Given the description of an element on the screen output the (x, y) to click on. 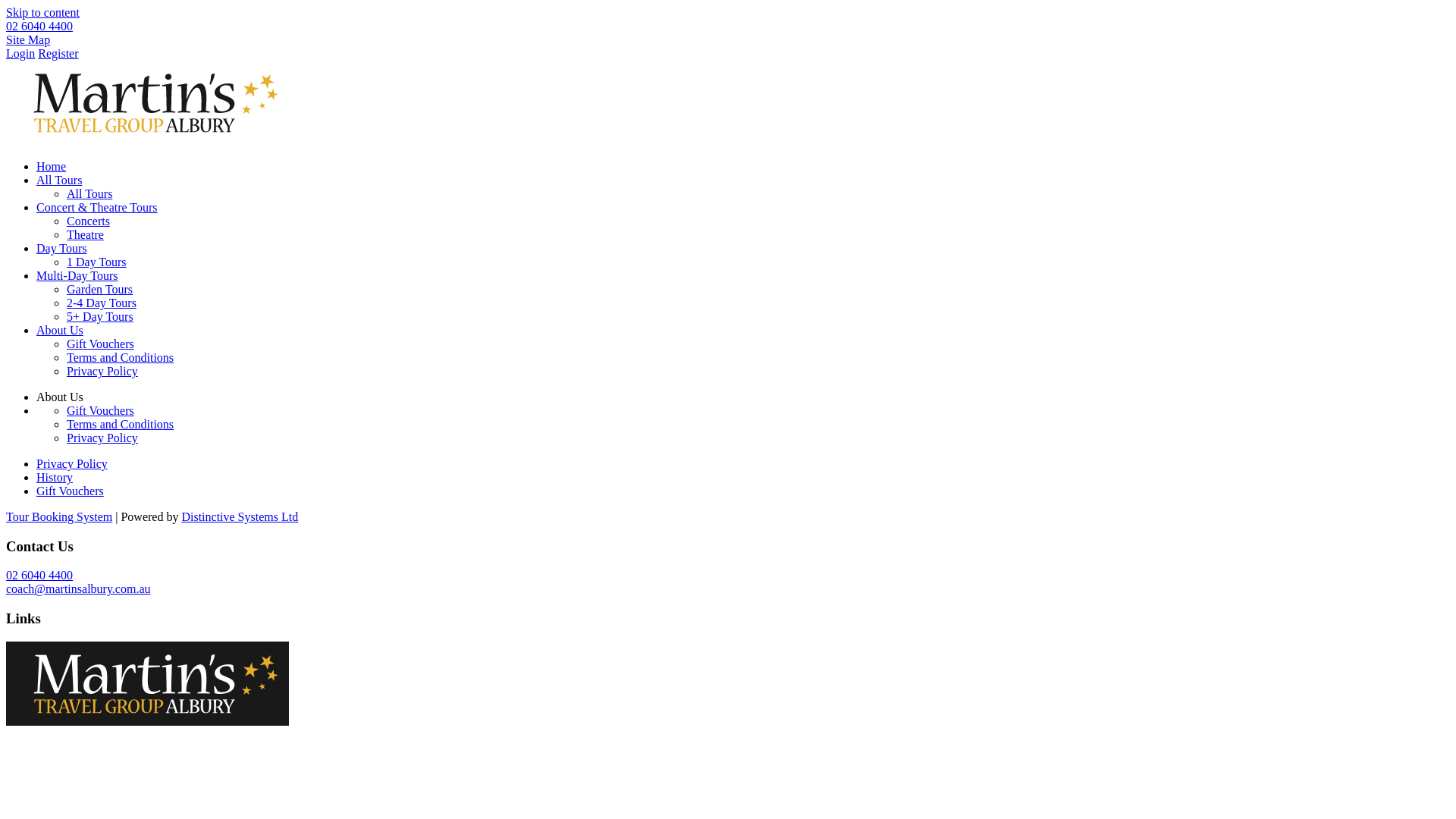
Gift Vouchers Element type: text (100, 410)
Gift Vouchers Element type: text (69, 490)
Gift Vouchers Element type: text (100, 343)
Garden Tours Element type: text (99, 288)
Skip to content Element type: text (42, 12)
Tour Booking System Element type: text (59, 516)
Concerts Element type: text (87, 220)
Register Element type: text (57, 53)
Terms and Conditions Element type: text (119, 423)
Privacy Policy Element type: text (102, 370)
Day Tours Element type: text (61, 247)
Concert & Theatre Tours Element type: text (96, 206)
Login Element type: text (20, 53)
Home Element type: text (50, 166)
2-4 Day Tours Element type: text (101, 302)
coach@martinsalbury.com.au Element type: text (78, 588)
Terms and Conditions Element type: text (119, 357)
02 6040 4400 Element type: text (39, 25)
02 6040 4400 Element type: text (39, 574)
5+ Day Tours Element type: text (99, 316)
All Tours Element type: text (58, 179)
Site Map Element type: text (28, 39)
About Us Element type: text (59, 329)
Theatre Element type: text (84, 234)
Multi-Day Tours Element type: text (76, 275)
Martin's Travel & Tours | Tel: (02) 6040 4400 Element type: hover (147, 102)
All Tours Element type: text (89, 193)
Distinctive Systems Ltd Element type: text (239, 516)
Privacy Policy Element type: text (71, 463)
History Element type: text (54, 476)
Privacy Policy Element type: text (102, 437)
1 Day Tours Element type: text (96, 261)
